Given the description of an element on the screen output the (x, y) to click on. 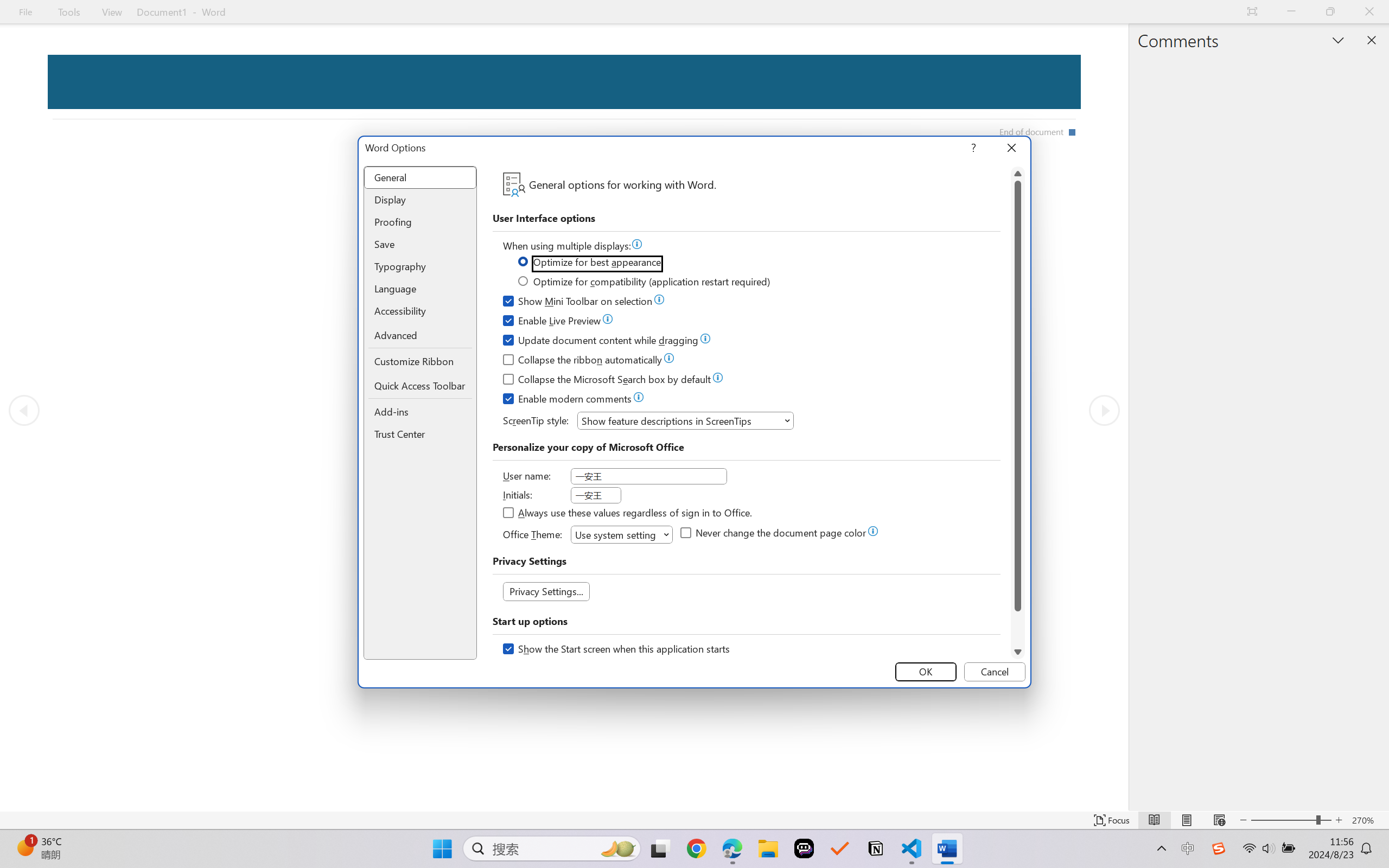
OK (926, 671)
Tools (69, 11)
Optimize for compatibility (application restart required) (645, 283)
Cancel (994, 671)
Trust Center (419, 434)
Show Mini Toolbar on selection (578, 302)
Collapse the Microsoft Search box by default (607, 380)
Update document content while dragging (601, 341)
